Given the description of an element on the screen output the (x, y) to click on. 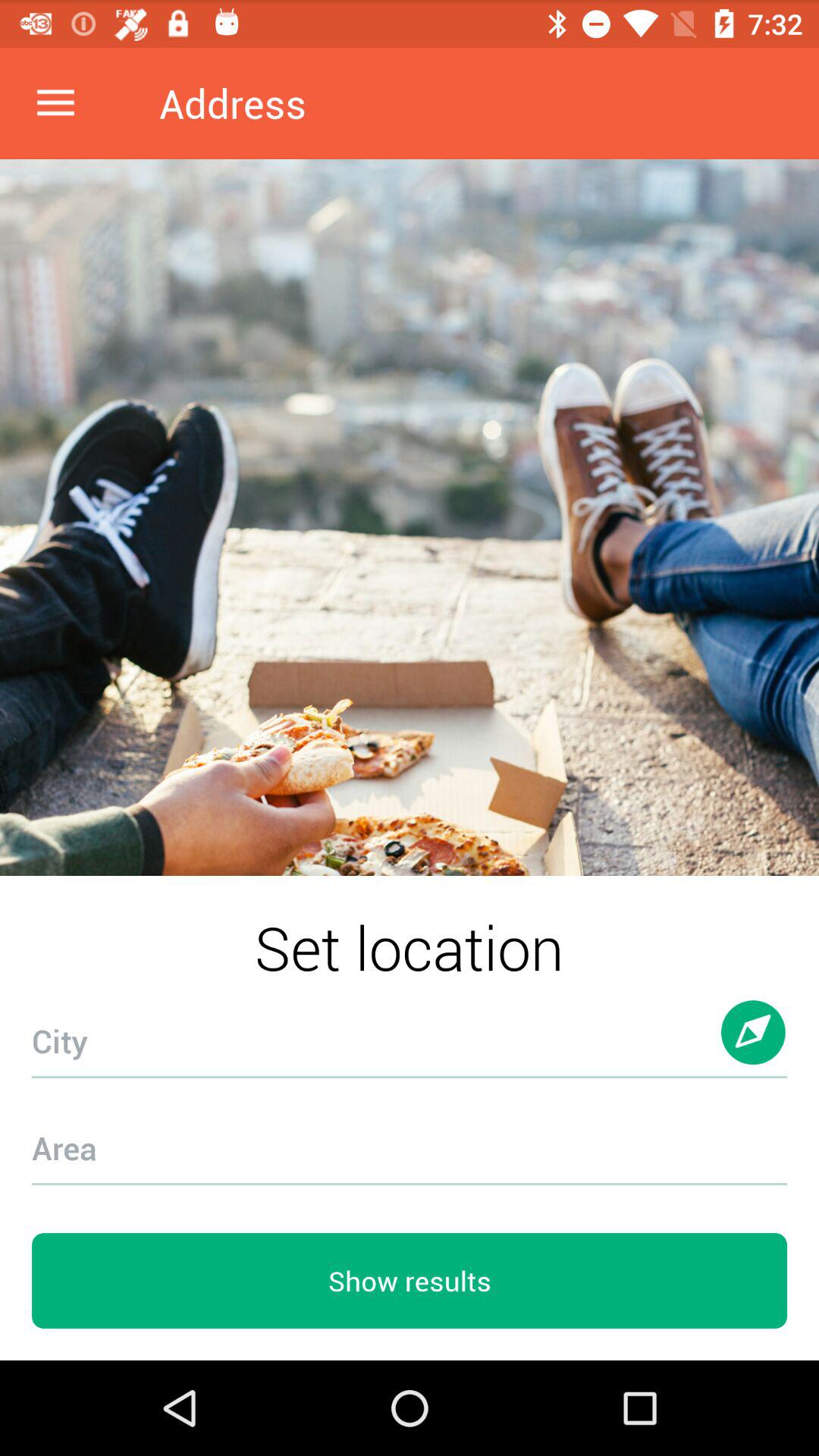
choose the icon next to set location icon (754, 1047)
